Given the description of an element on the screen output the (x, y) to click on. 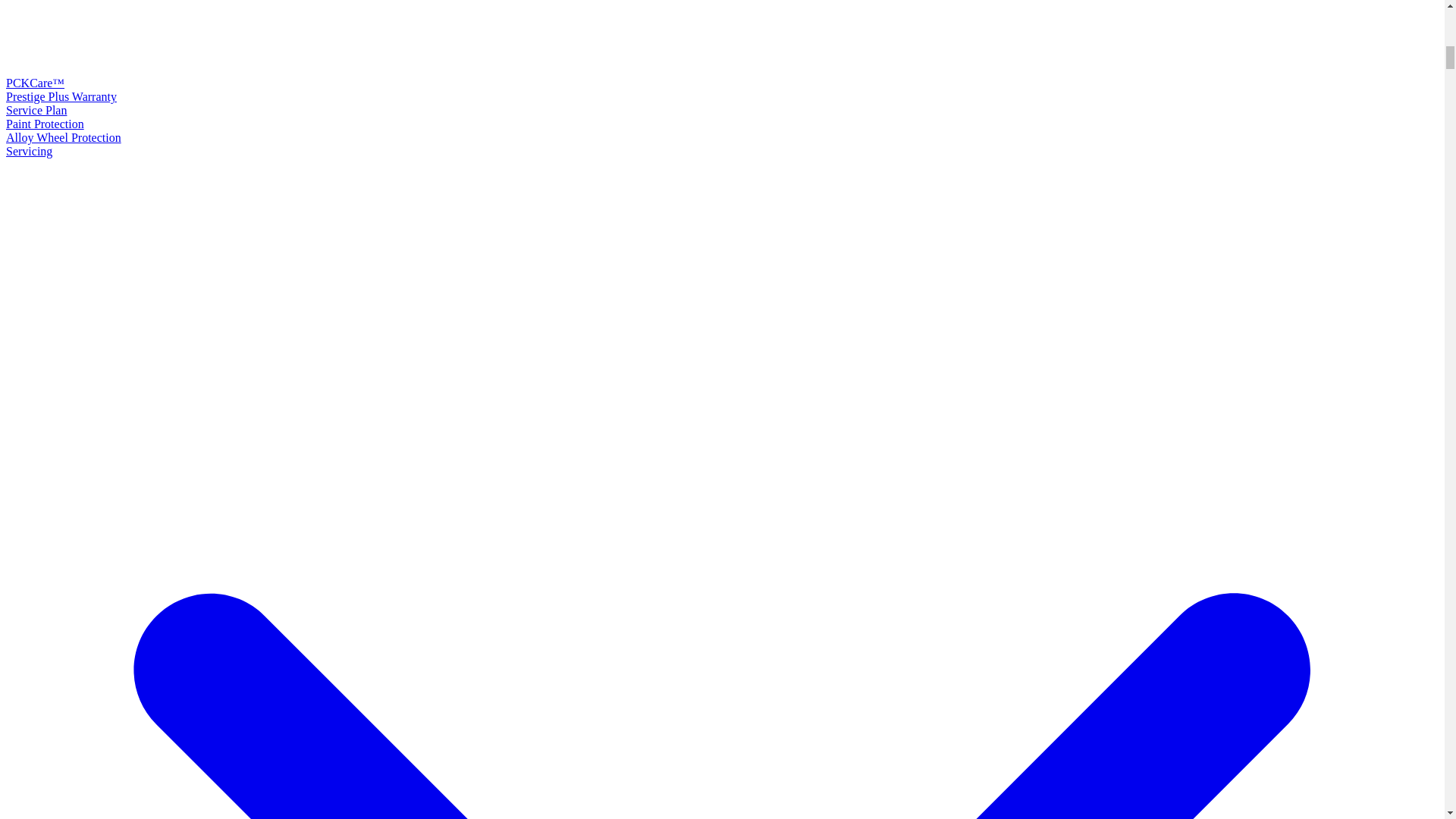
Alloy Wheel Protection (62, 137)
Service Plan (35, 110)
Prestige Plus Warranty (60, 96)
Paint Protection (44, 123)
